Given the description of an element on the screen output the (x, y) to click on. 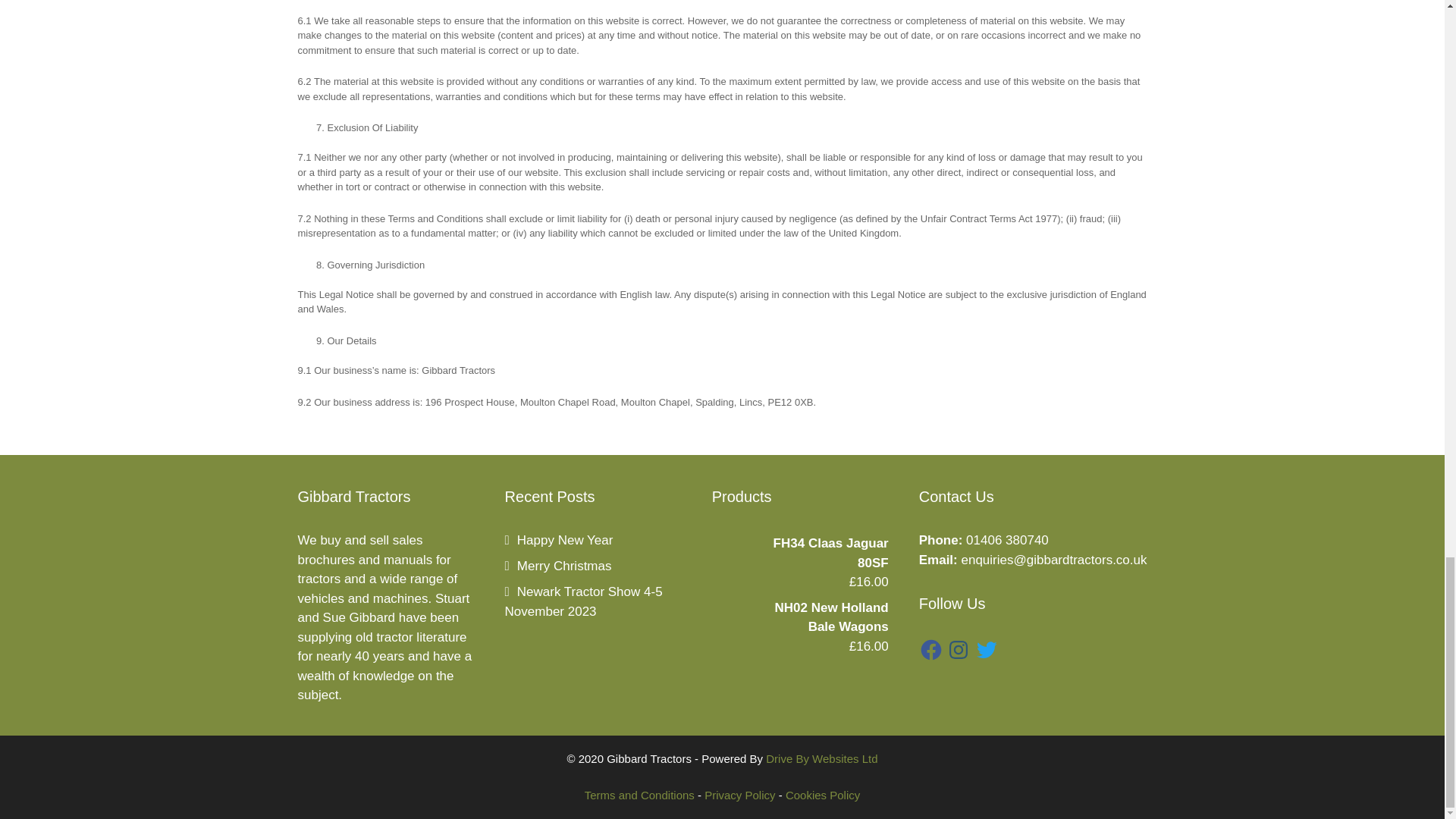
Newark Tractor Show 4-5 November 2023 (583, 601)
Drive By Websites Ltd (821, 758)
Privacy Policy (739, 794)
Instagram (958, 649)
Cookies Policy (823, 794)
NH02 New Holland Bale Wagons (799, 617)
Merry Christmas (558, 565)
Twitter (986, 649)
Facebook (930, 649)
Terms and Conditions (639, 794)
FH34 Claas Jaguar 80SF (799, 552)
Happy New Year (558, 540)
